Given the description of an element on the screen output the (x, y) to click on. 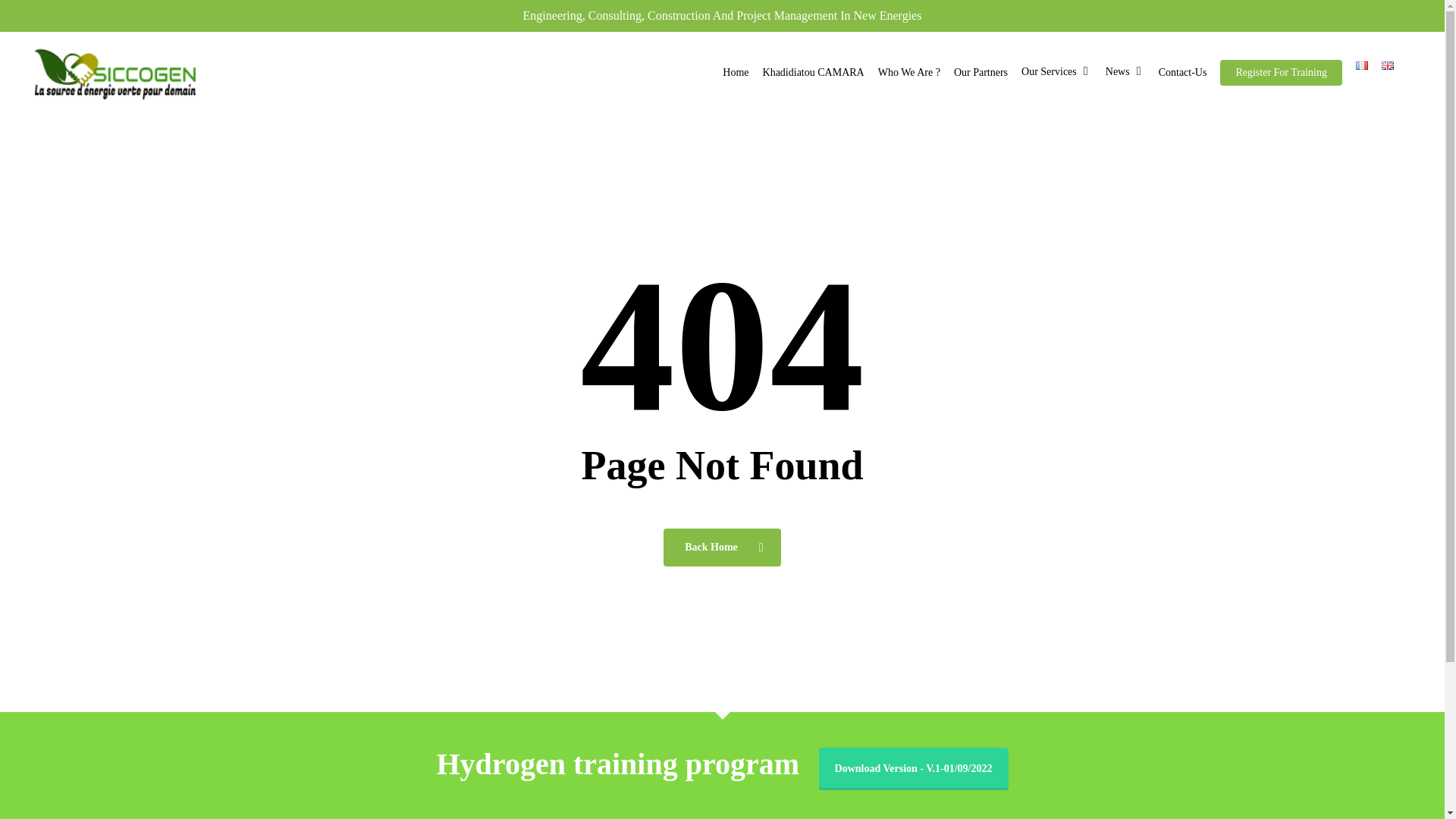
Our Partners (980, 72)
Who We Are ? (908, 72)
Home (735, 72)
Back Home (721, 547)
Khadidiatou CAMARA (812, 72)
News (1125, 72)
Contact-Us (1182, 72)
Register For Training (1281, 72)
Our Services (1056, 72)
